Given the description of an element on the screen output the (x, y) to click on. 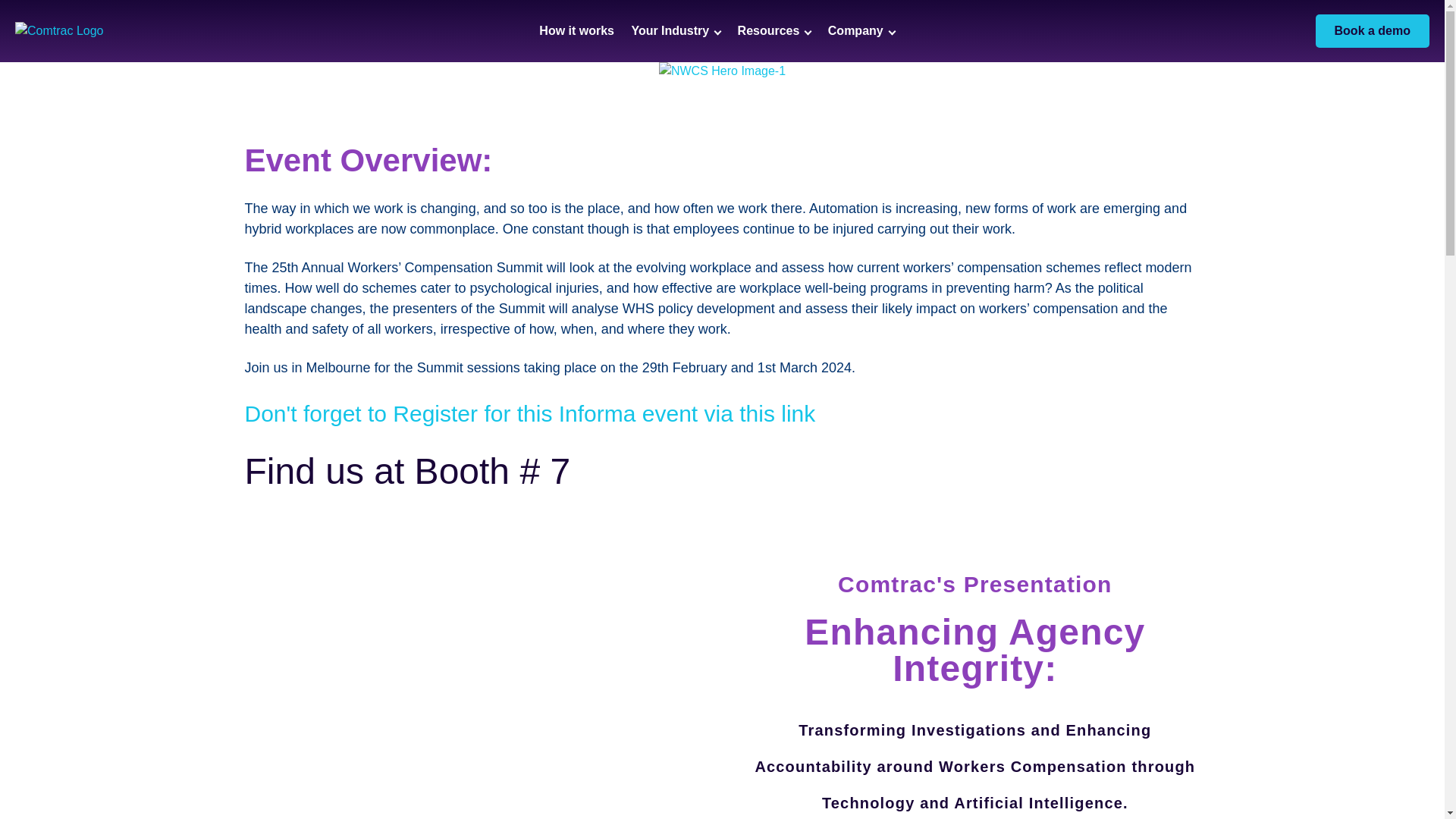
Your Industry (675, 30)
Resources (774, 30)
Company (861, 30)
NWCS Hero Image-1 (722, 71)
Book a demo (1372, 30)
Comtrac Logo (58, 31)
How it works (576, 30)
